Given the description of an element on the screen output the (x, y) to click on. 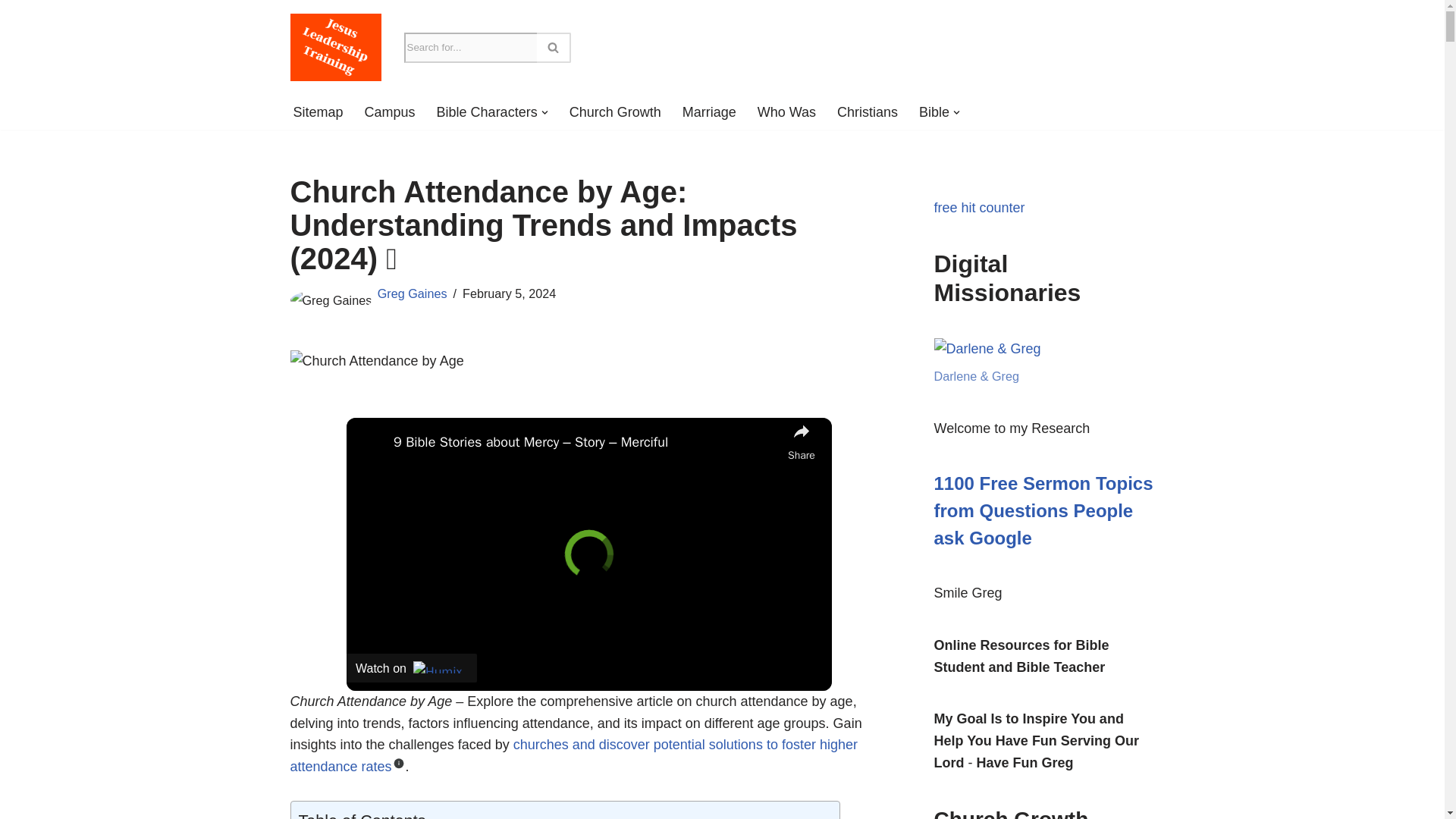
Skip to content (11, 31)
Christians (867, 111)
Marriage (709, 111)
Bible Characters (486, 111)
Who Was (786, 111)
Bible (933, 111)
Campus (389, 111)
Church Growth (615, 111)
Posts by Greg Gaines (411, 293)
Sitemap (317, 111)
